Given the description of an element on the screen output the (x, y) to click on. 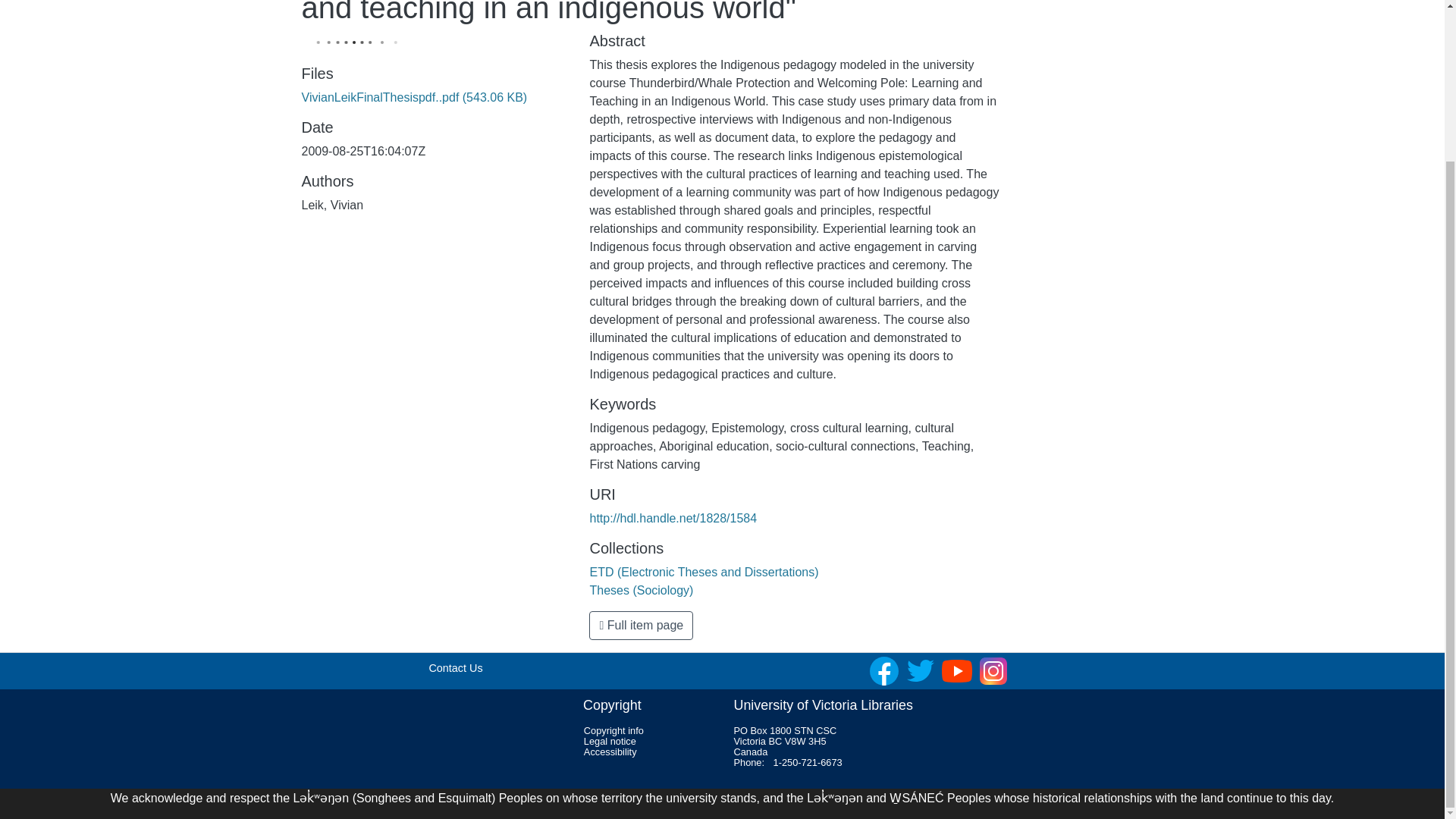
Full item page (641, 624)
Contact Us (454, 667)
